Given the description of an element on the screen output the (x, y) to click on. 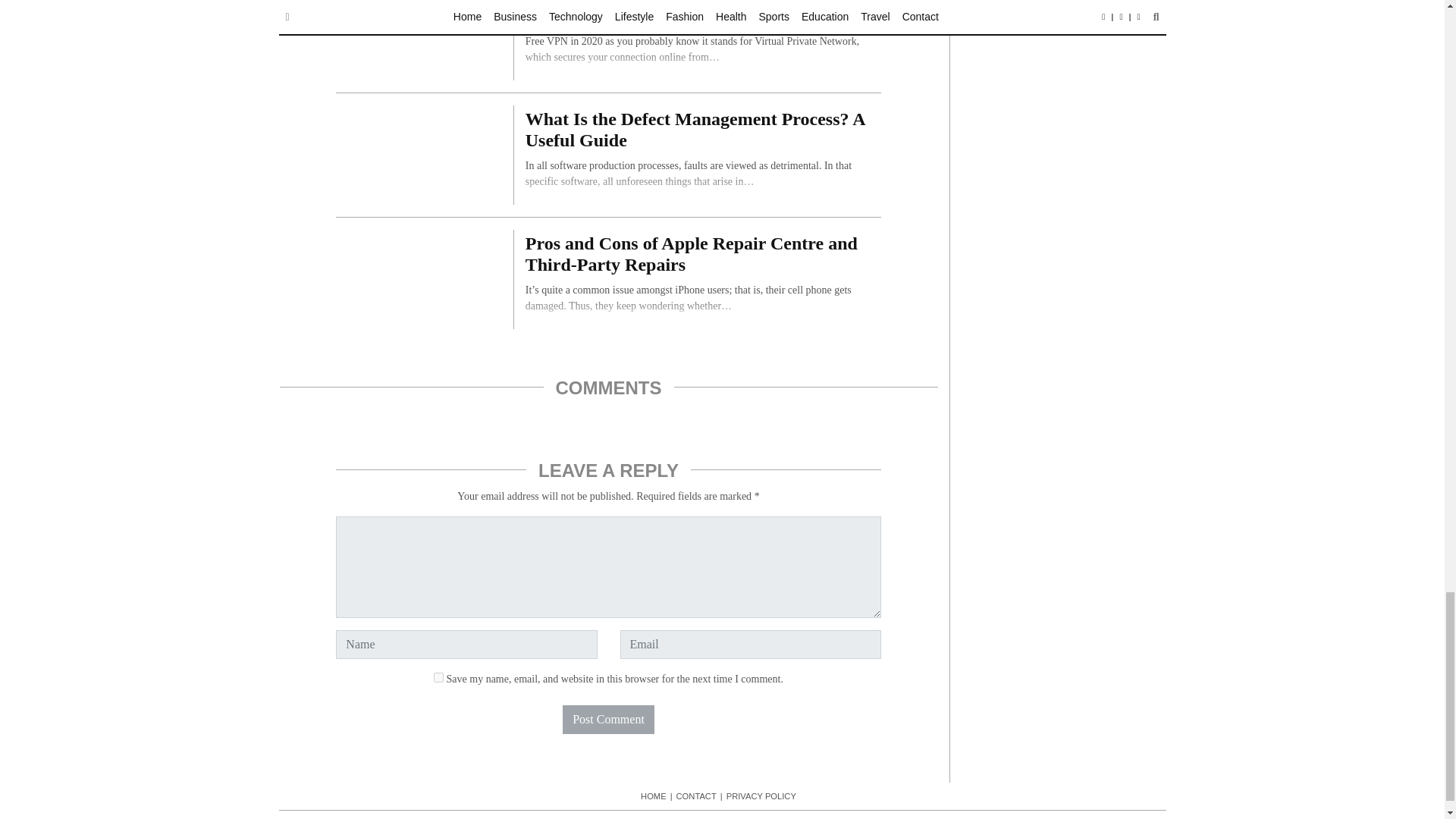
Post Comment (607, 719)
yes (438, 677)
Post Comment (607, 719)
